Given the description of an element on the screen output the (x, y) to click on. 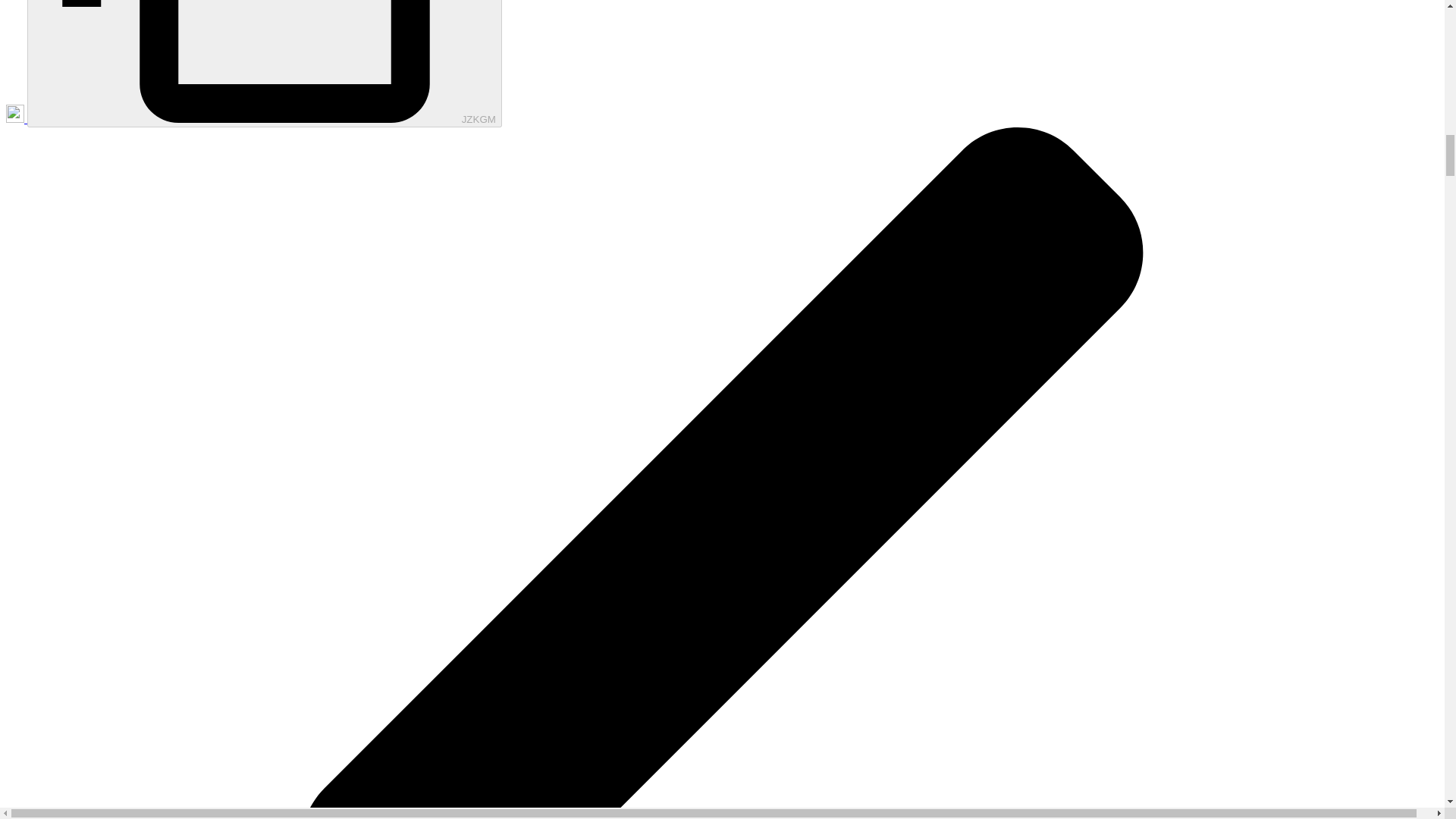
JZKGM (264, 63)
